Given the description of an element on the screen output the (x, y) to click on. 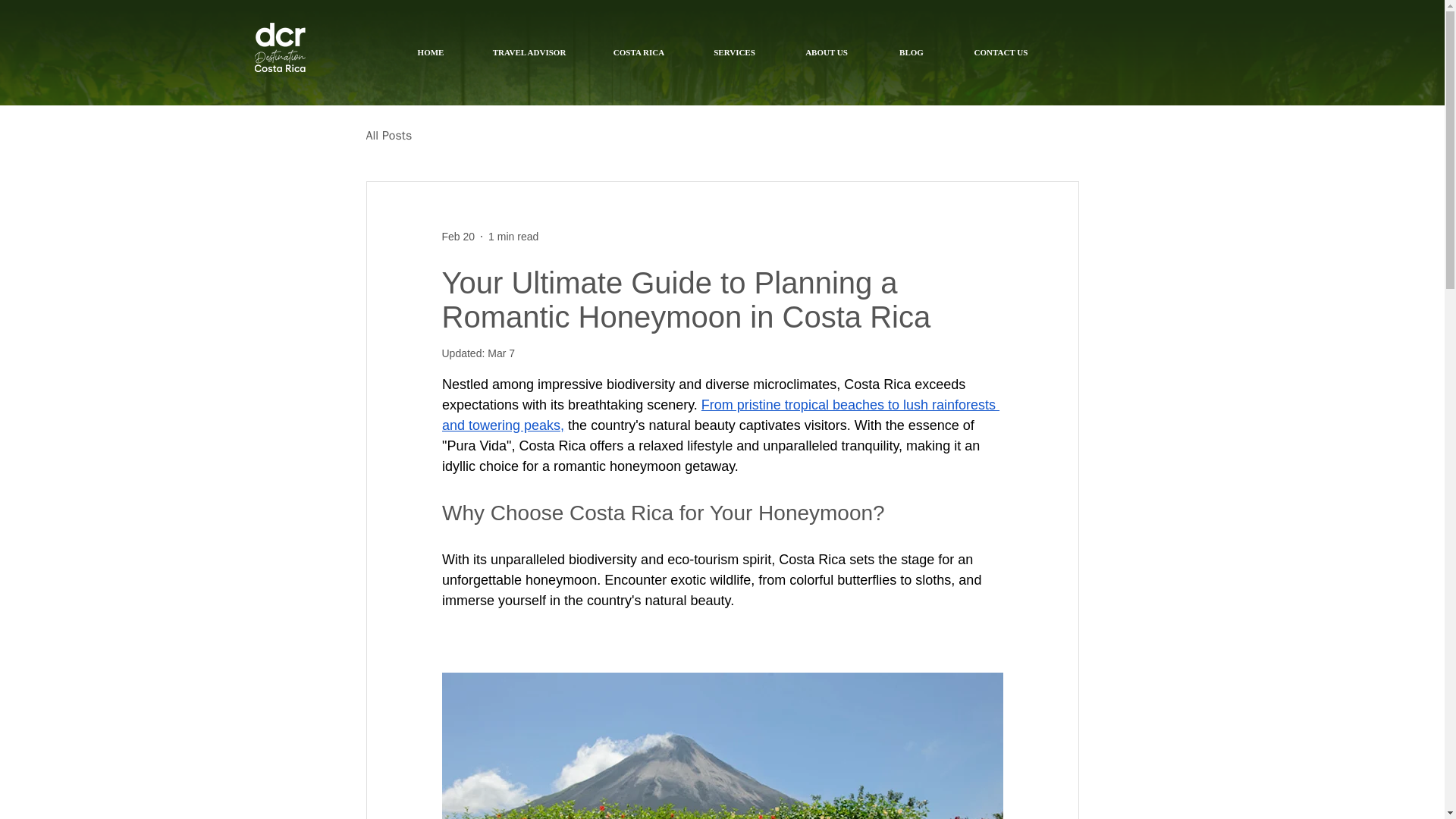
BLOG (911, 52)
Mar 7 (501, 353)
ABOUT US (825, 52)
TRAVEL ADVISOR (529, 52)
Feb 20 (457, 236)
CONTACT US (1000, 52)
All Posts (388, 135)
HOME (429, 52)
1 min read (512, 236)
SERVICES (733, 52)
